Given the description of an element on the screen output the (x, y) to click on. 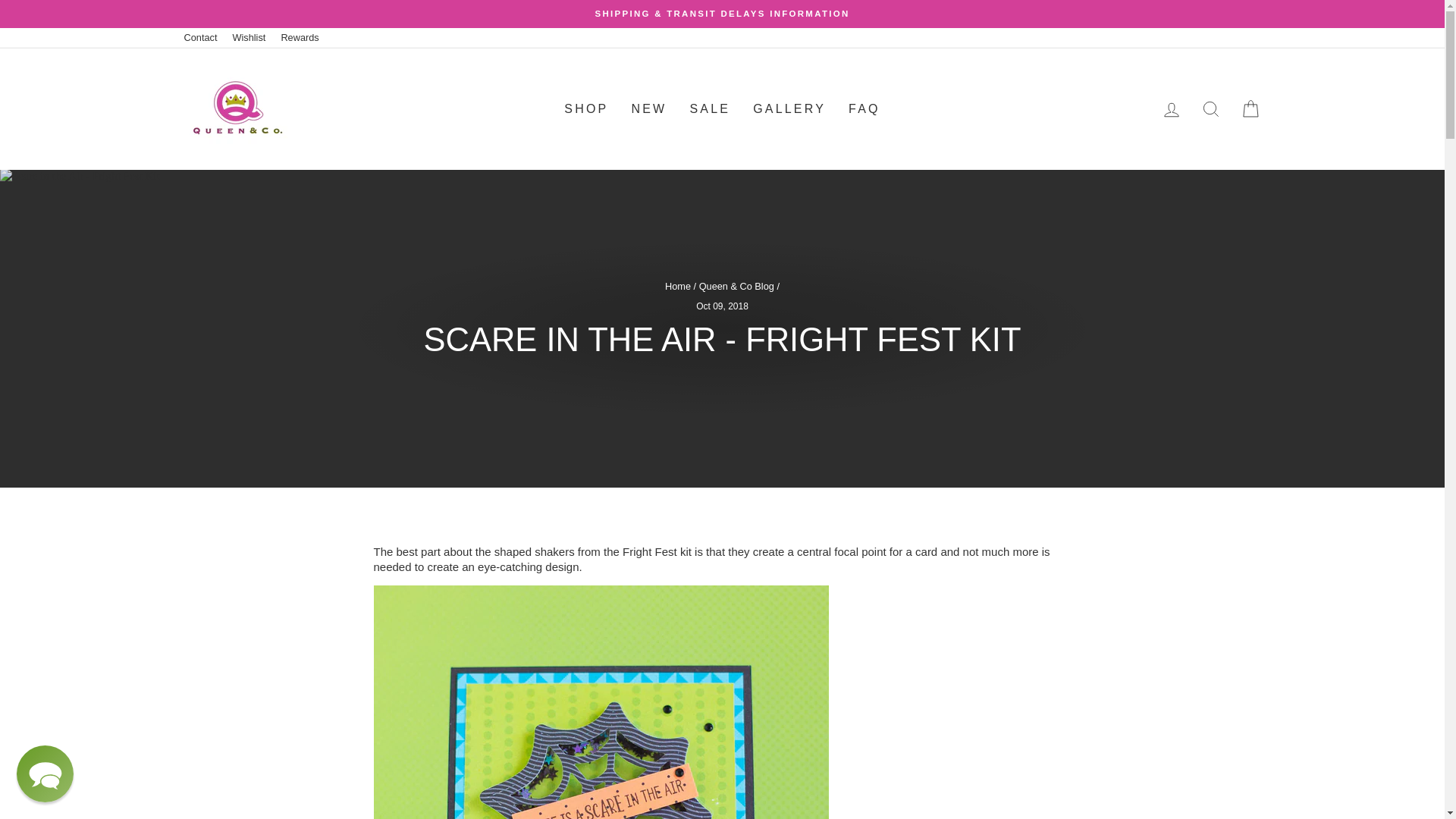
Back to the frontpage (677, 285)
